Given the description of an element on the screen output the (x, y) to click on. 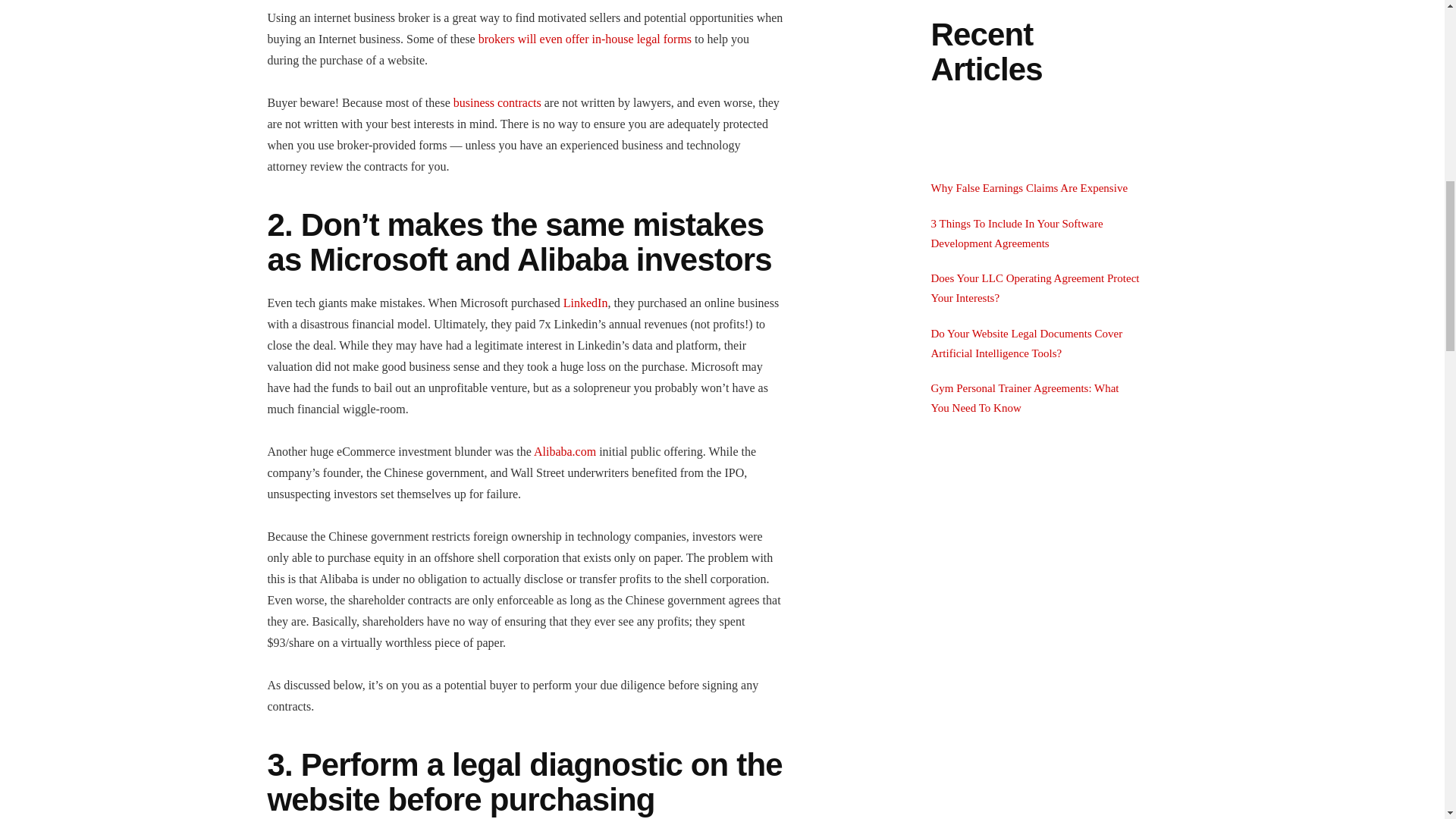
LinkedIn (585, 302)
Alibaba.com (564, 451)
business contracts (496, 102)
Does Your LLC Operating Agreement Protect Your Interests? (1035, 287)
brokers will even offer in-house legal forms (585, 38)
3 Things To Include In Your Software Development Agreements (1017, 233)
Gym Personal Trainer Agreements: What You Need To Know (1025, 398)
Why False Earnings Claims Are Expensive (1029, 187)
